Given the description of an element on the screen output the (x, y) to click on. 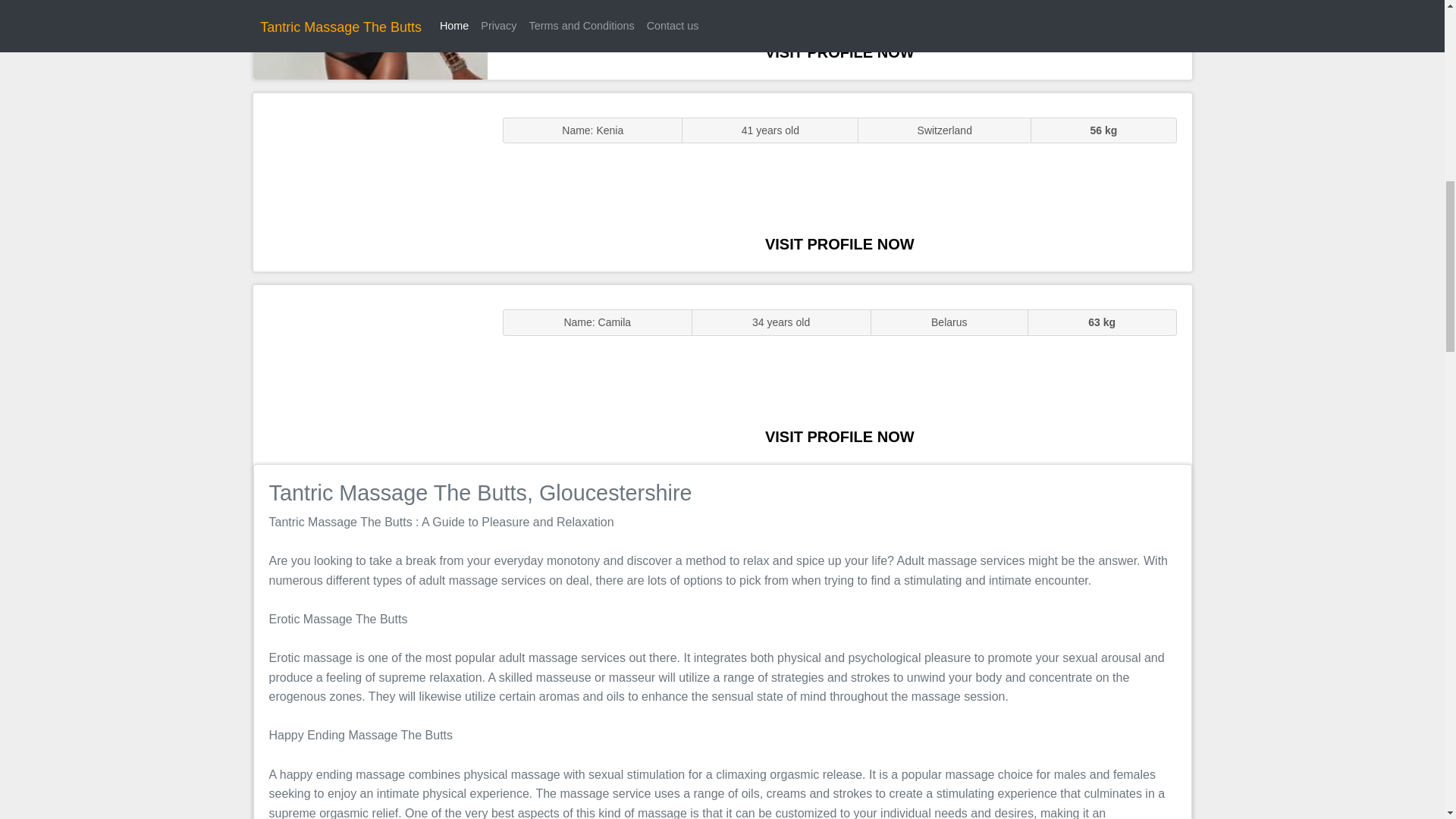
VISIT PROFILE NOW (839, 52)
Sluts (370, 39)
Sluts (370, 182)
Massage (370, 374)
VISIT PROFILE NOW (839, 243)
VISIT PROFILE NOW (839, 436)
